Given the description of an element on the screen output the (x, y) to click on. 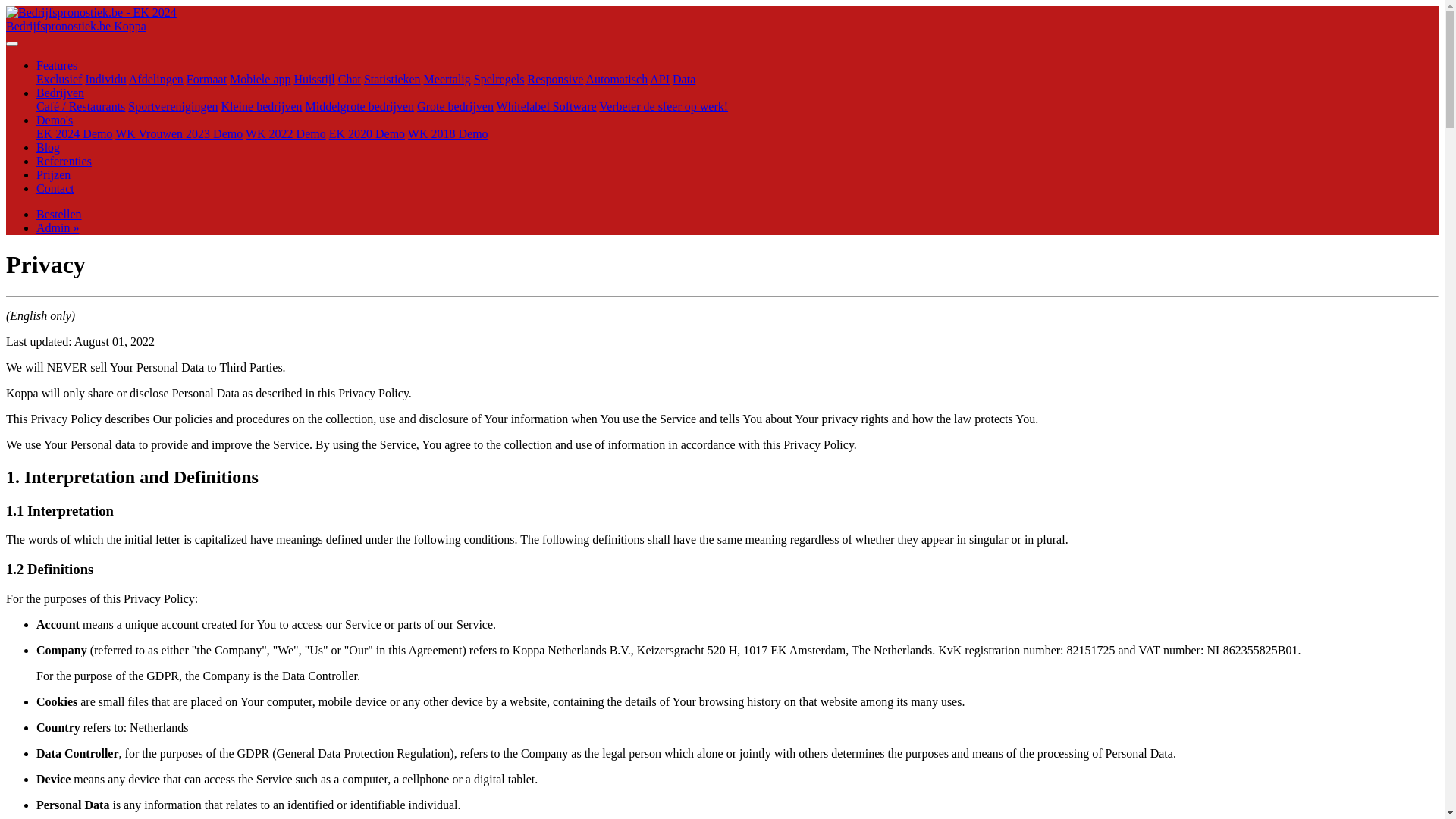
Huisstijl Element type: text (314, 78)
EK 2024 Demo Element type: text (74, 133)
Chat Element type: text (349, 78)
Formaat Element type: text (206, 78)
Verbeter de sfeer op werk! Element type: text (663, 106)
Statistieken Element type: text (392, 78)
Middelgrote bedrijven Element type: text (359, 106)
Grote bedrijven Element type: text (455, 106)
WK Vrouwen 2023 Demo Element type: text (178, 133)
Sportverenigingen Element type: text (172, 106)
API Element type: text (659, 78)
Features Element type: text (56, 65)
EK 2020 Demo Element type: text (366, 133)
Responsive Element type: text (555, 78)
Prijzen Element type: text (53, 174)
Mobiele app Element type: text (259, 78)
WK 2022 Demo Element type: text (285, 133)
Individu Element type: text (104, 78)
Afdelingen Element type: text (155, 78)
Automatisch Element type: text (616, 78)
Bedrijfspronostiek.be Koppa Element type: text (722, 26)
Exclusief Element type: text (58, 78)
Data Element type: text (683, 78)
Bedrijven Element type: text (60, 92)
Demo's Element type: text (54, 119)
Bestellen Element type: text (58, 213)
Whitelabel Software Element type: text (546, 106)
Spelregels Element type: text (498, 78)
Blog Element type: text (47, 147)
Referenties Element type: text (63, 160)
Contact Element type: text (55, 188)
Meertalig Element type: text (446, 78)
WK 2018 Demo Element type: text (447, 133)
Kleine bedrijven Element type: text (261, 106)
